Given the description of an element on the screen output the (x, y) to click on. 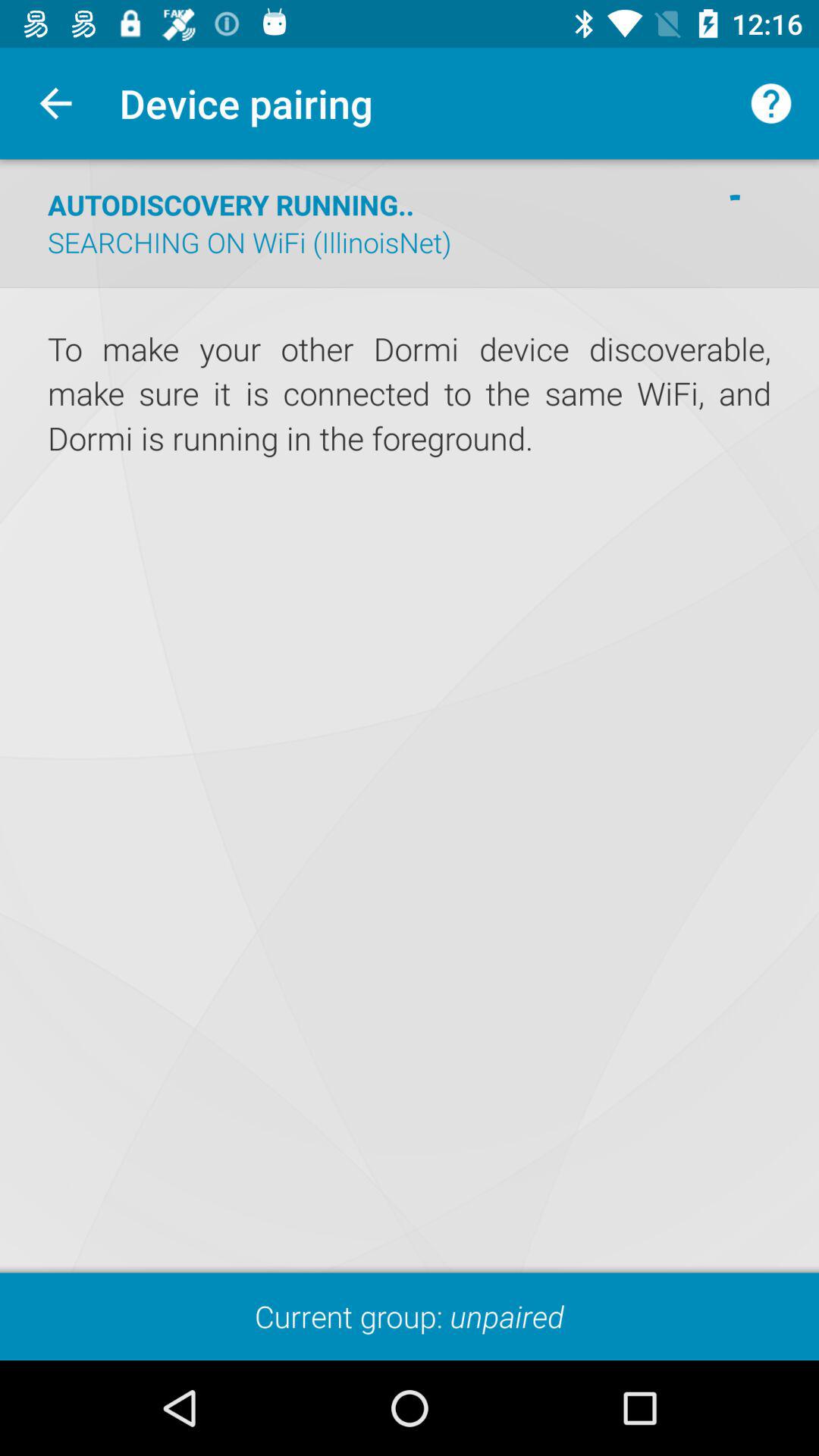
jump to to make your icon (409, 394)
